Given the description of an element on the screen output the (x, y) to click on. 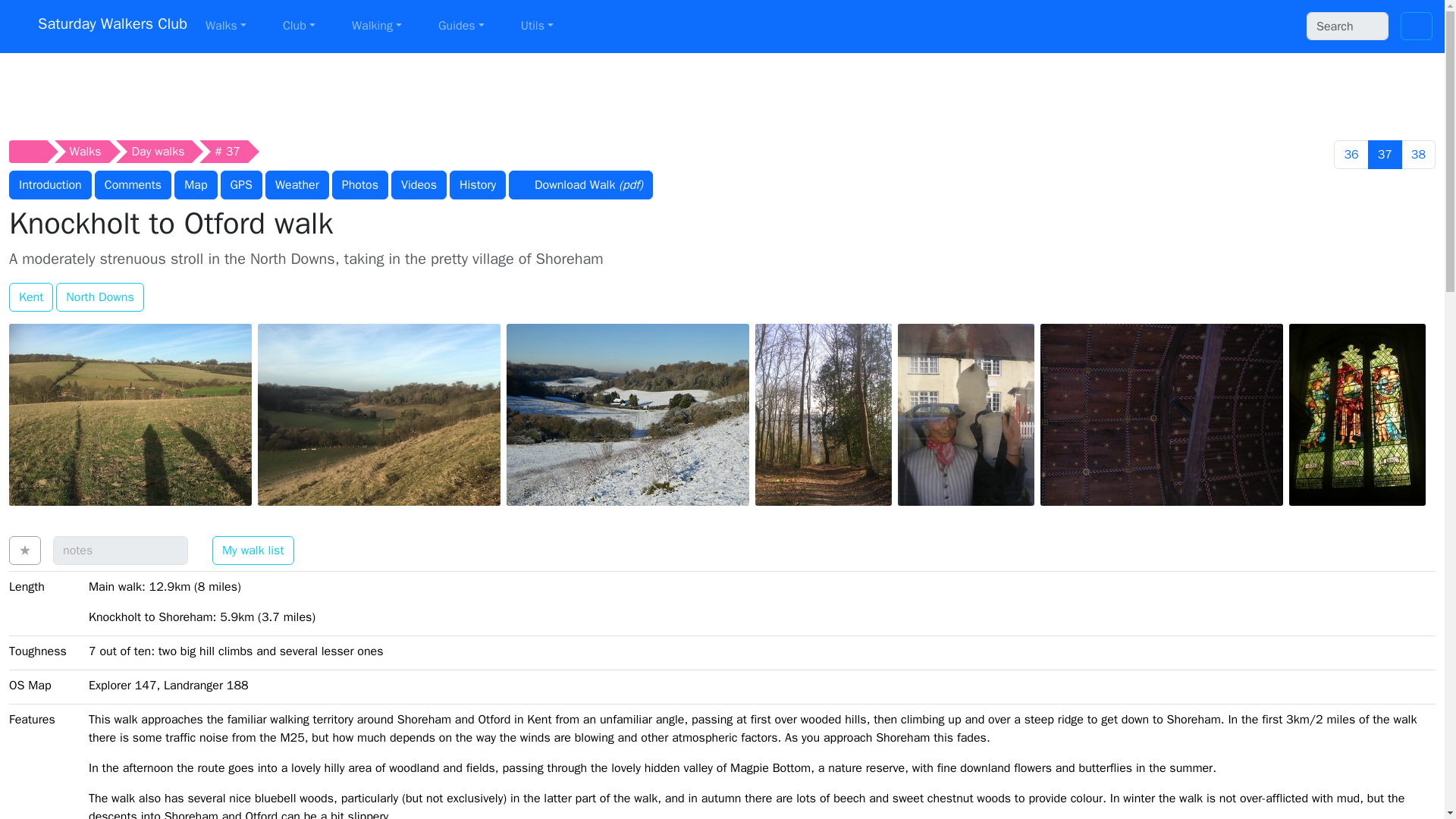
Guides (461, 25)
Download PDF (580, 184)
Walking (376, 25)
Club (298, 25)
next walk (1417, 154)
Saturday Walkers Club (97, 27)
Walks (225, 25)
Utils (537, 25)
previous walk (1350, 154)
Download GPS route in GPX or KML format (241, 184)
